Given the description of an element on the screen output the (x, y) to click on. 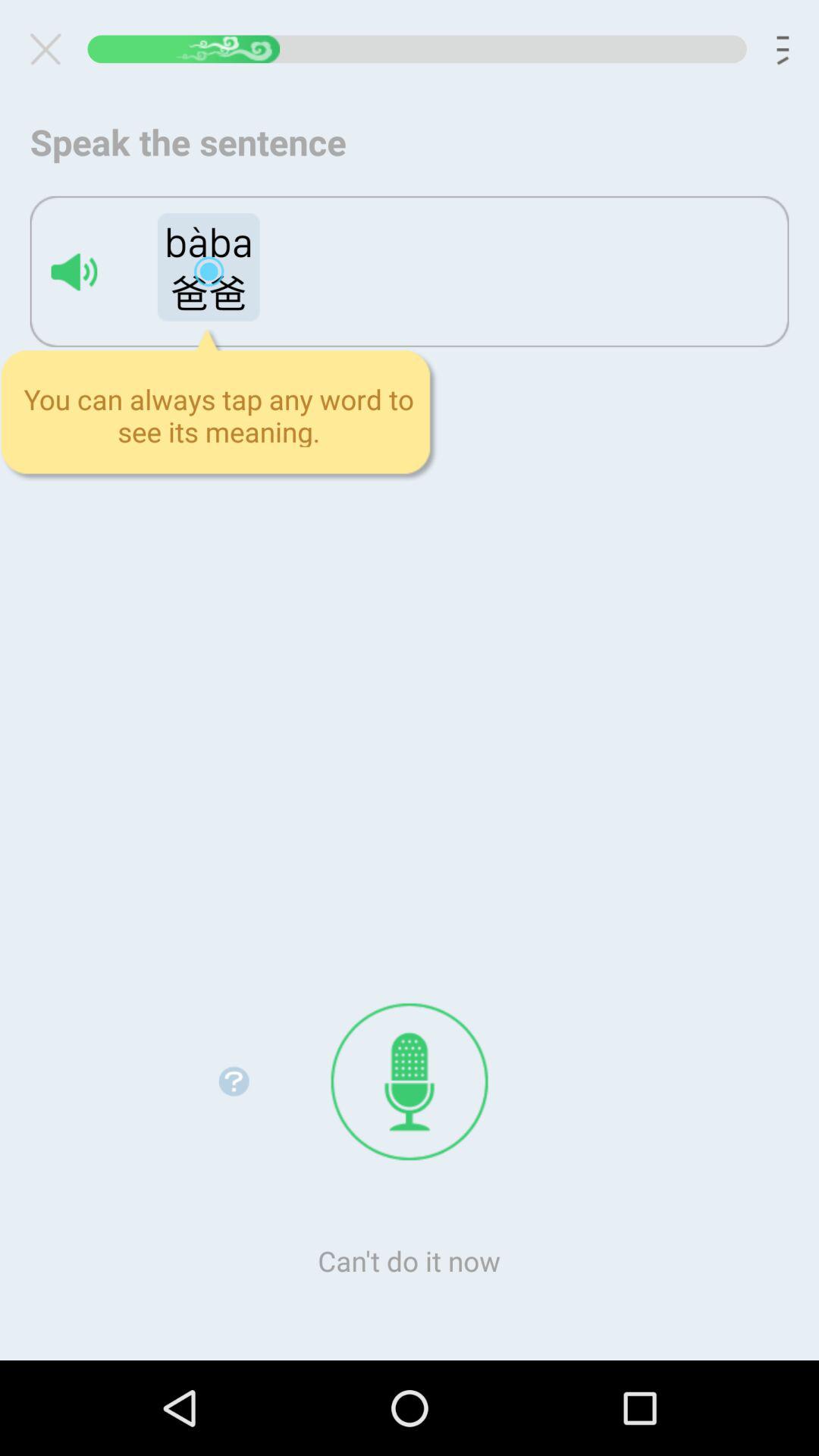
speaker (74, 271)
